Given the description of an element on the screen output the (x, y) to click on. 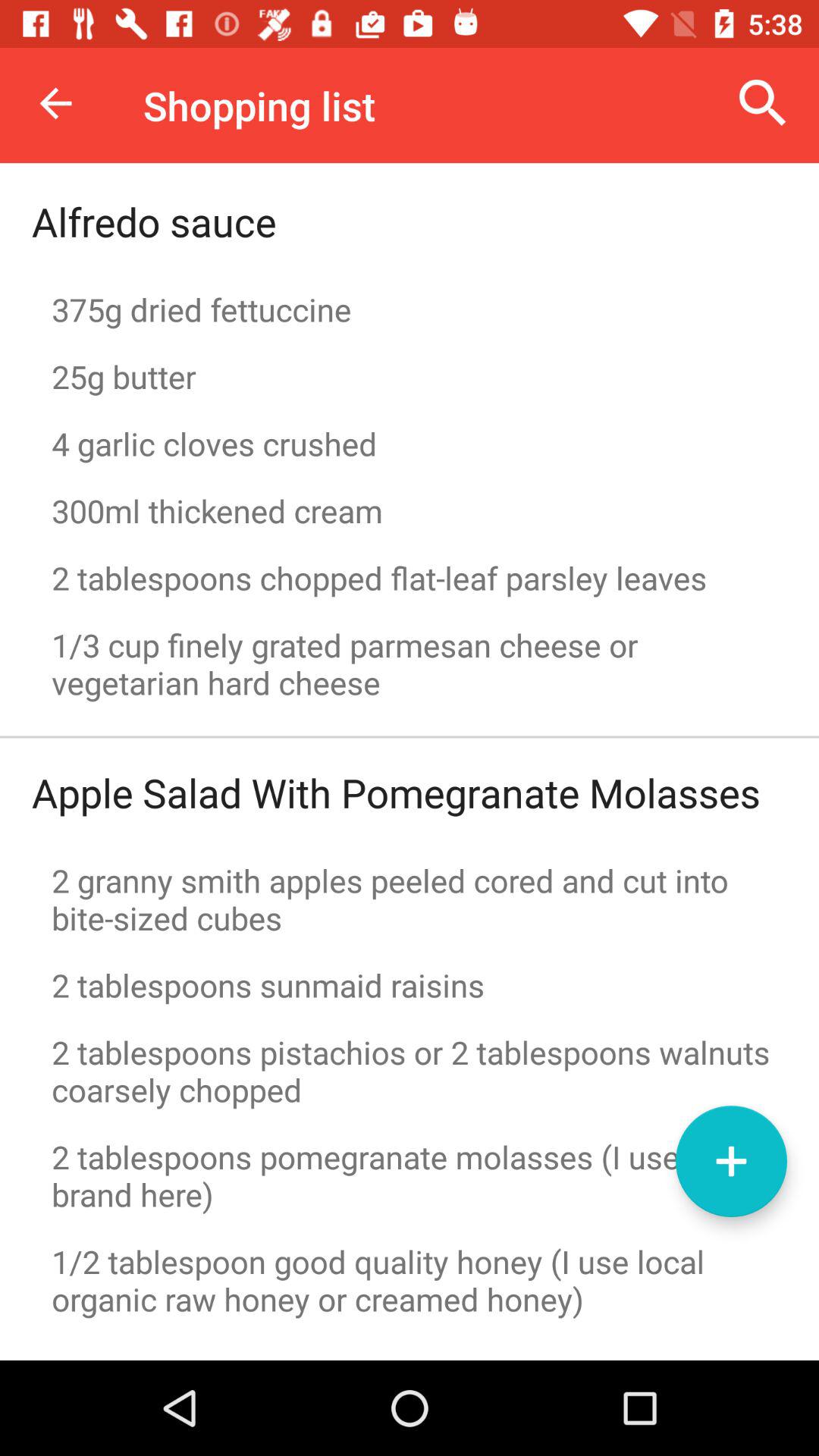
add link (731, 1161)
